Given the description of an element on the screen output the (x, y) to click on. 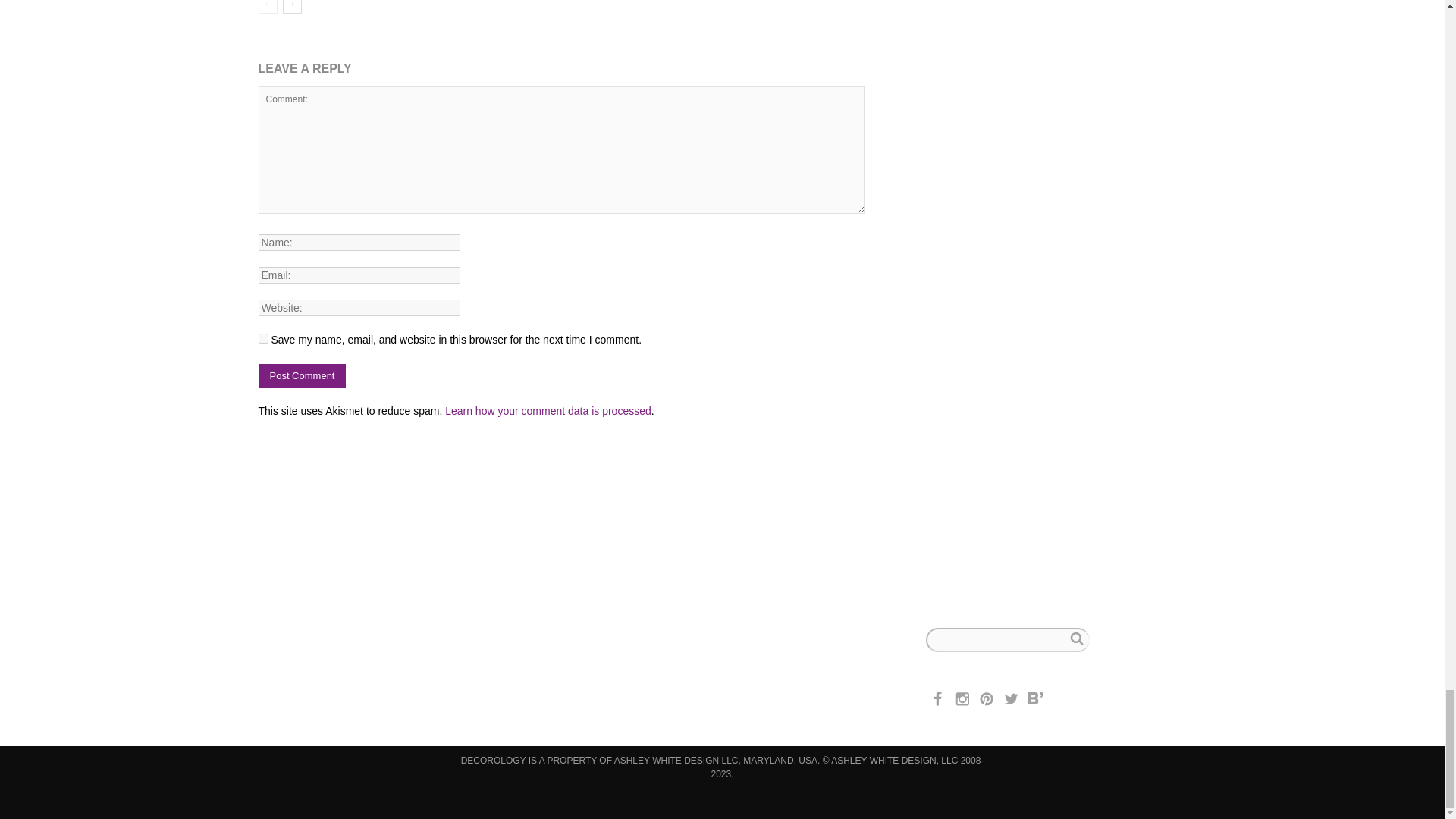
yes (262, 338)
Search (1075, 638)
Post Comment (301, 375)
